Given the description of an element on the screen output the (x, y) to click on. 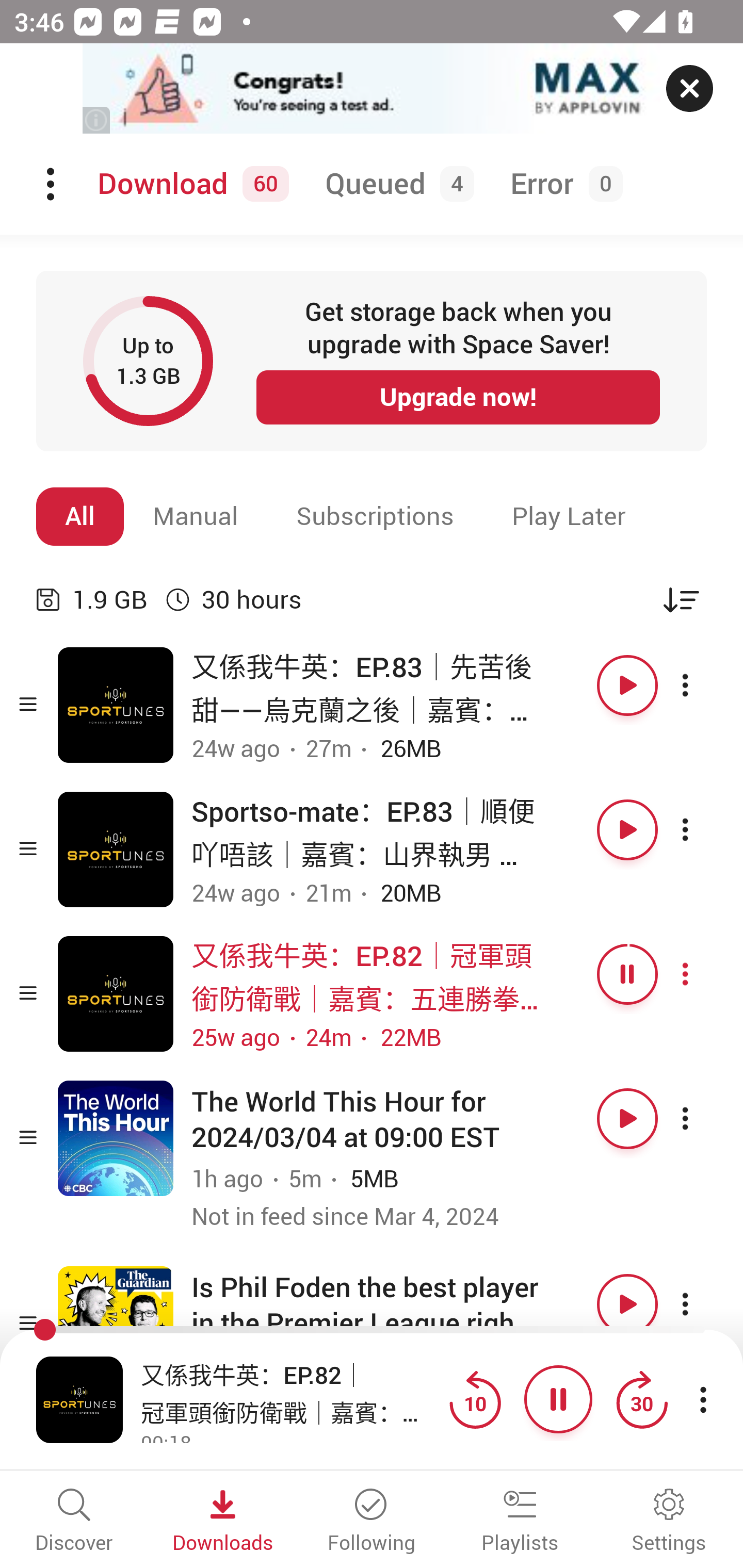
app-monetization (371, 88)
(i) (96, 119)
Menu (52, 184)
 Download 60 (189, 184)
 Queued 4 (396, 184)
 Error 0 (562, 184)
All (80, 516)
Manual (195, 516)
Subscriptions (374, 516)
Play Later (568, 516)
Change sort order (681, 599)
Play button (627, 685)
More options (703, 685)
Open series Sportunes HK (115, 705)
Play button (627, 830)
More options (703, 830)
Open series Sportunes HK (115, 849)
Pause button (627, 974)
More options (703, 974)
Open series Sportunes HK (115, 994)
Play button (627, 1118)
More options (703, 1118)
Open series The World This Hour (115, 1138)
Play button (627, 1304)
More options (703, 1304)
Open series Football Weekly (115, 1323)
Open fullscreen player (79, 1399)
又係我牛英：EP.82｜冠軍頭銜防衛戰｜嘉賓：五連勝拳后 楊曉茹 (290, 1392)
More player controls (703, 1399)
Pause button (558, 1398)
Jump back (475, 1399)
Jump forward (641, 1399)
Discover (74, 1521)
Downloads (222, 1521)
Following (371, 1521)
Playlists (519, 1521)
Settings (668, 1521)
